Given the description of an element on the screen output the (x, y) to click on. 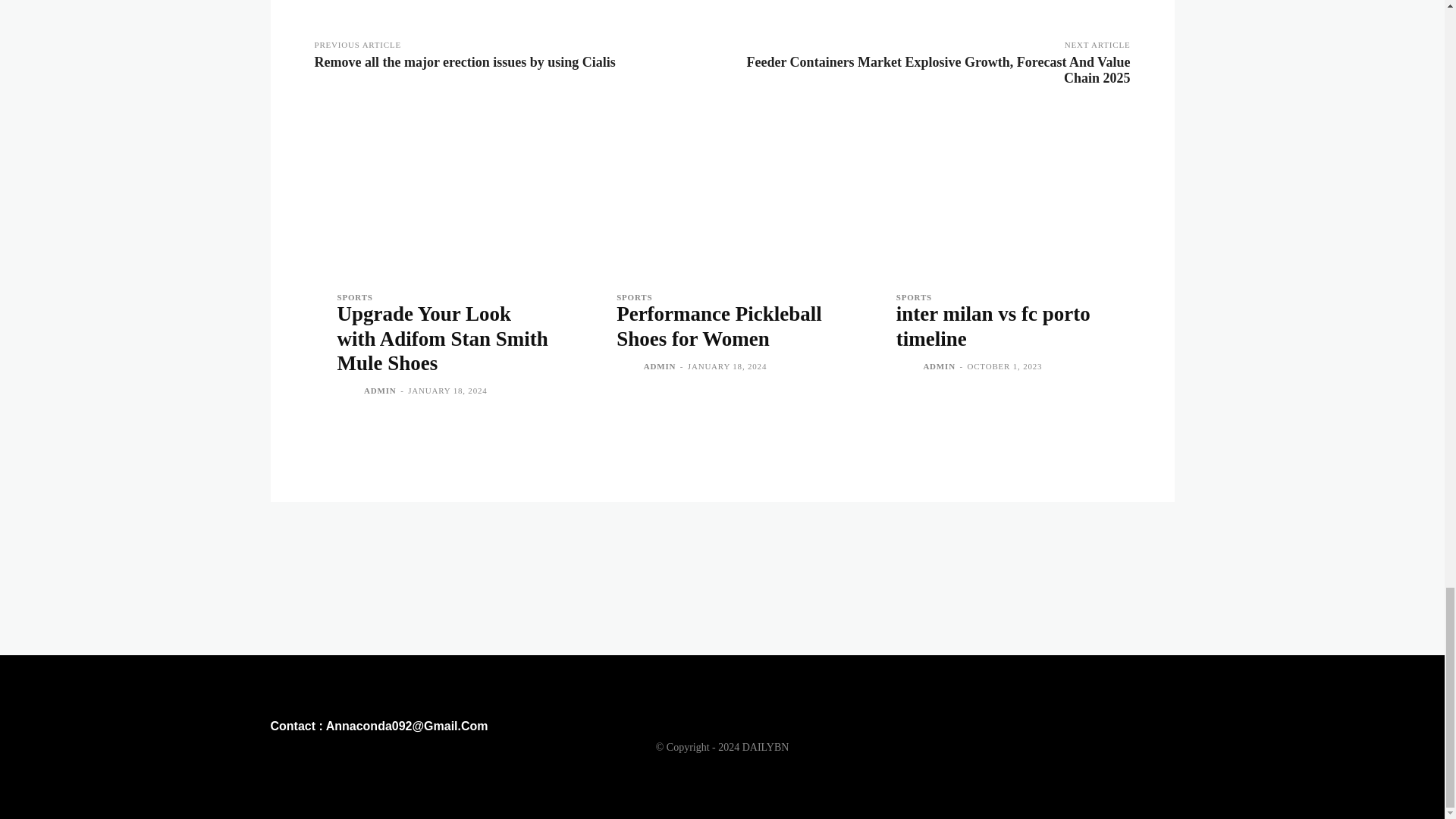
Upgrade Your Look with Adifom Stan Smith Mule Shoes (441, 338)
Upgrade Your Look with Adifom Stan Smith Mule Shoes (442, 194)
Performance Pickleball Shoes for Women (722, 194)
Performance Pickleball Shoes for Women (718, 325)
